Given the description of an element on the screen output the (x, y) to click on. 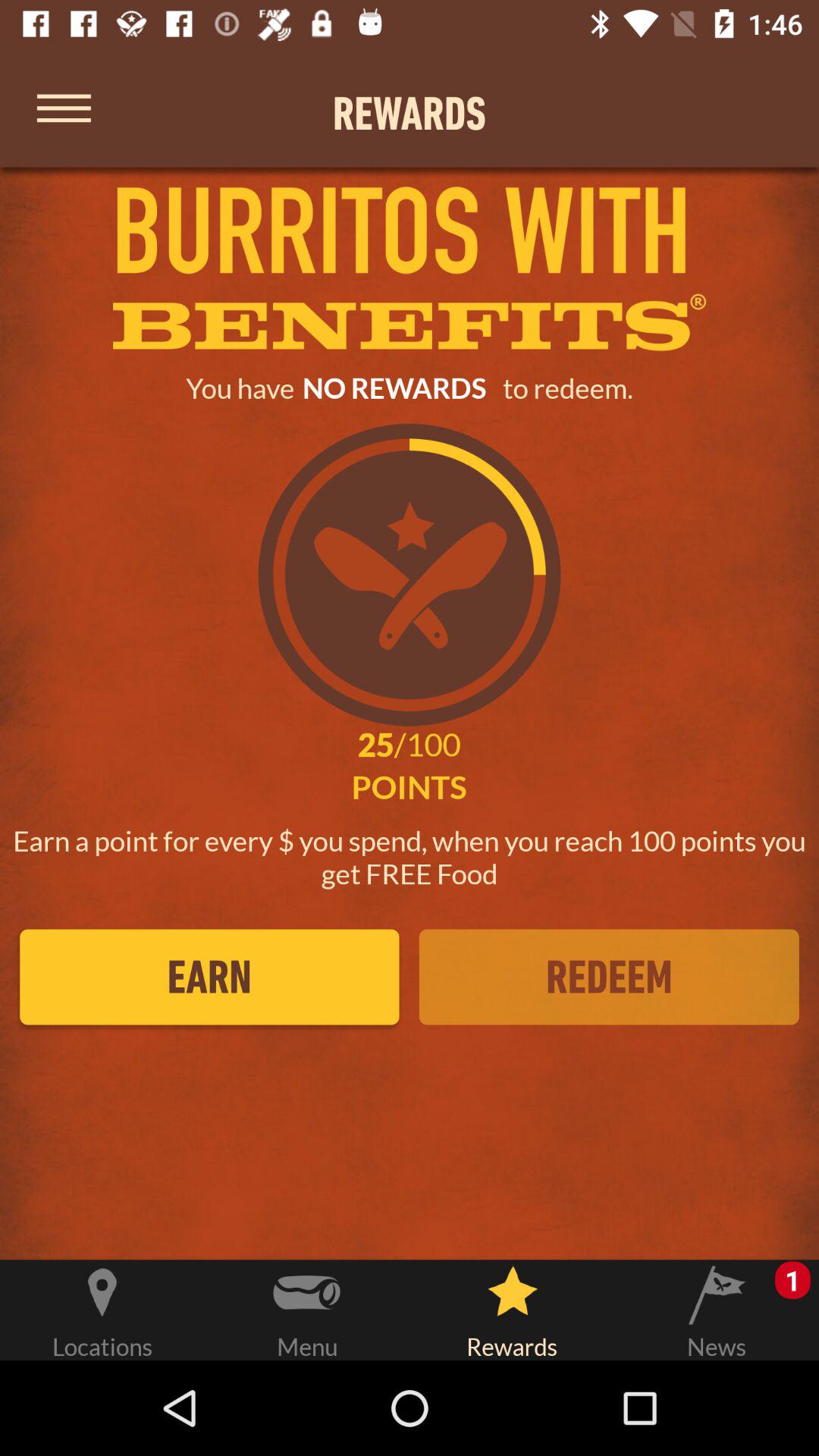
bring up menu (63, 113)
